Given the description of an element on the screen output the (x, y) to click on. 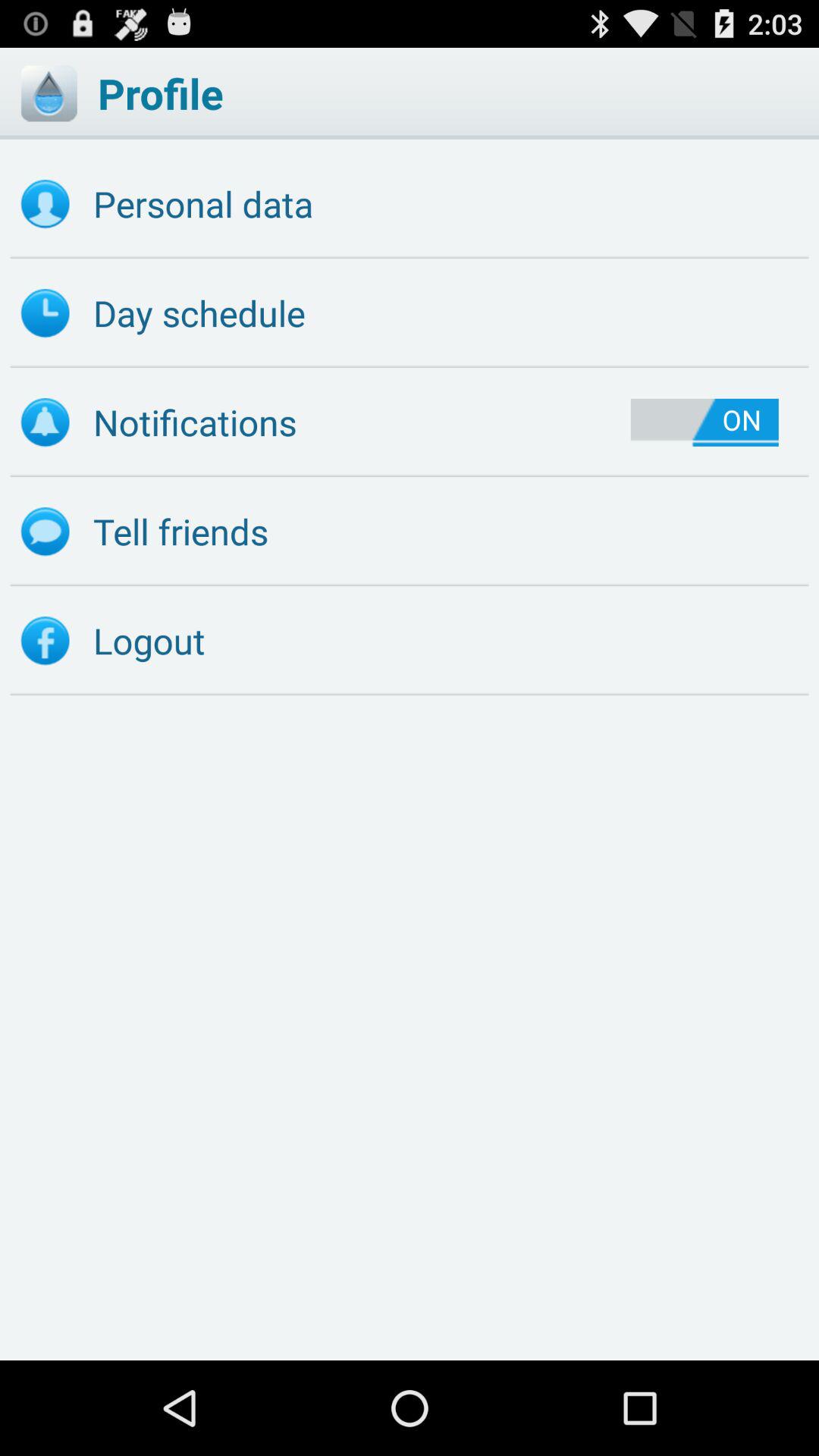
press icon at the top right corner (704, 422)
